Given the description of an element on the screen output the (x, y) to click on. 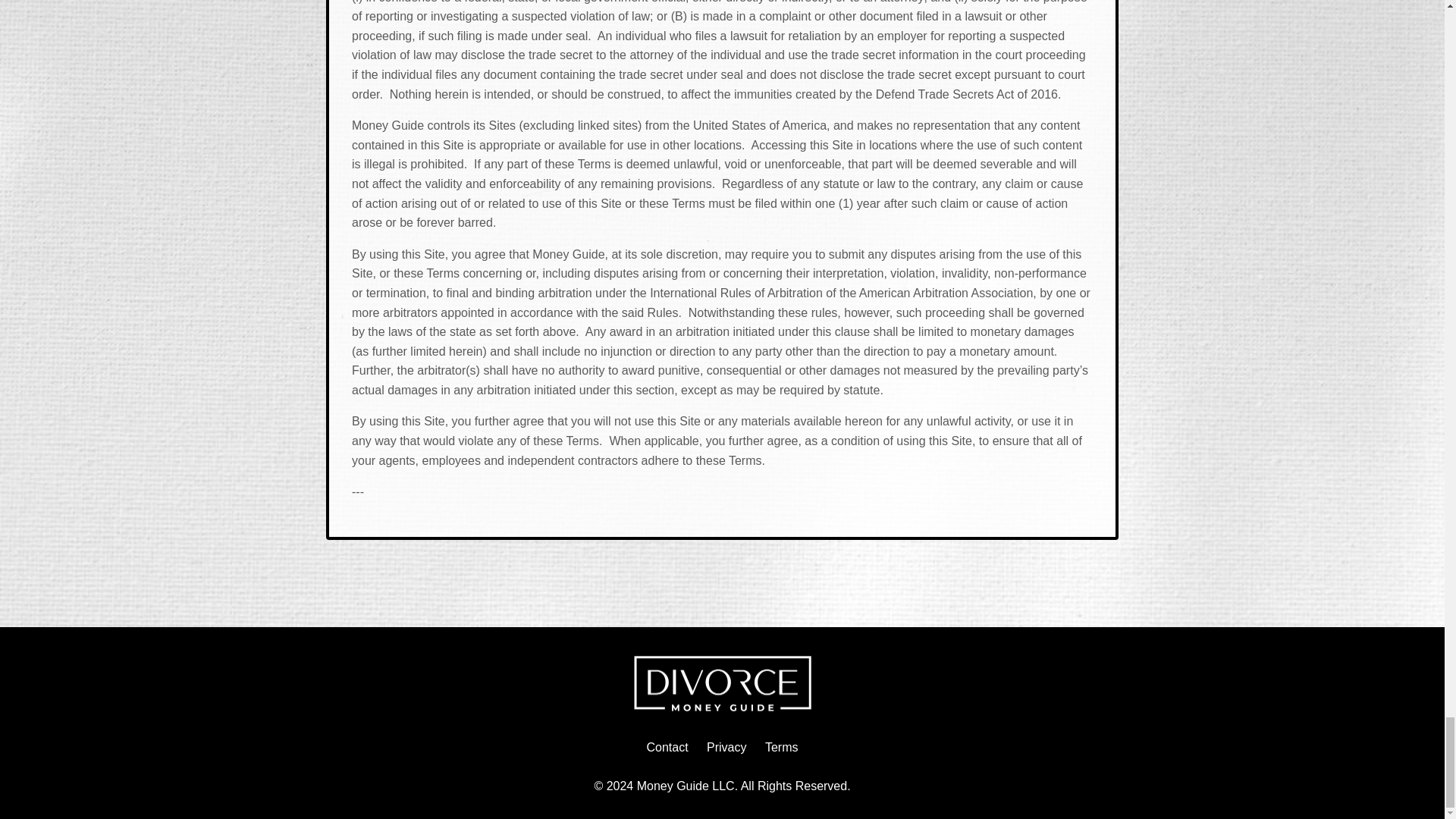
Contact (666, 747)
Privacy (725, 747)
Terms (781, 747)
